Given the description of an element on the screen output the (x, y) to click on. 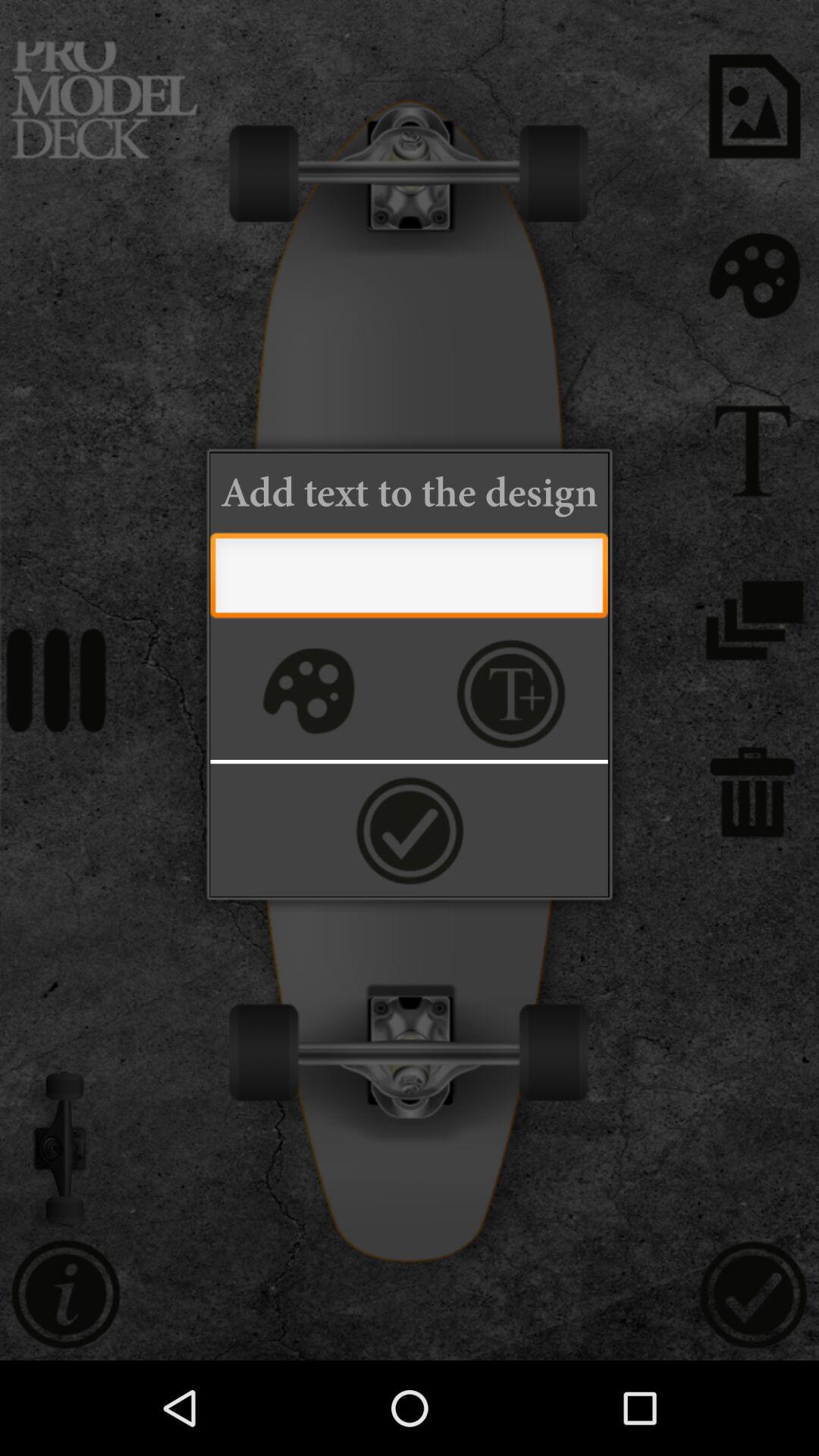
add text (511, 693)
